Given the description of an element on the screen output the (x, y) to click on. 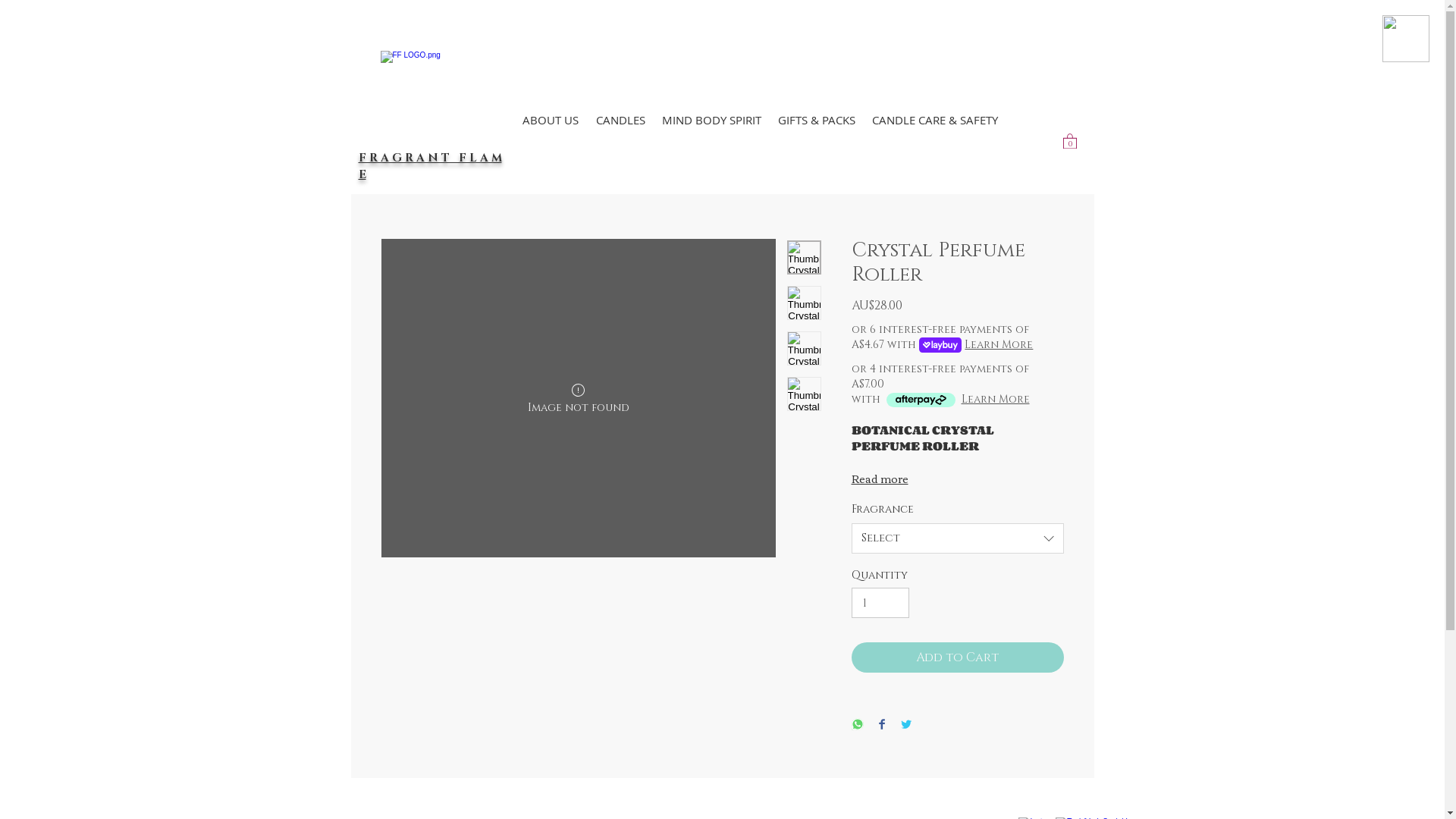
CANDLES Element type: text (619, 119)
CANDLE CARE & SAFETY Element type: text (933, 119)
0 Element type: text (1069, 140)
Read more Element type: text (956, 478)
MIND BODY SPIRIT Element type: text (711, 119)
Select Element type: text (956, 538)
ABOUT US Element type: text (550, 119)
Embedded Content Element type: hover (722, 29)
GIFTS & PACKS Element type: text (815, 119)
Learn More Element type: text (998, 344)
Add to Cart Element type: text (956, 657)
F R A G R A N T   F L A M E Element type: text (429, 165)
Learn More Element type: text (995, 399)
